Given the description of an element on the screen output the (x, y) to click on. 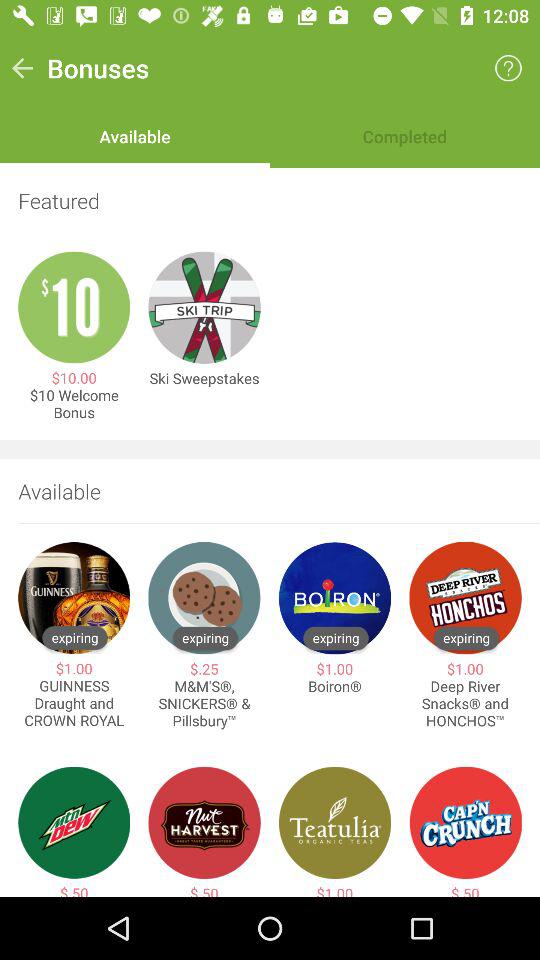
choose the icon below the $1.00 (334, 686)
